Given the description of an element on the screen output the (x, y) to click on. 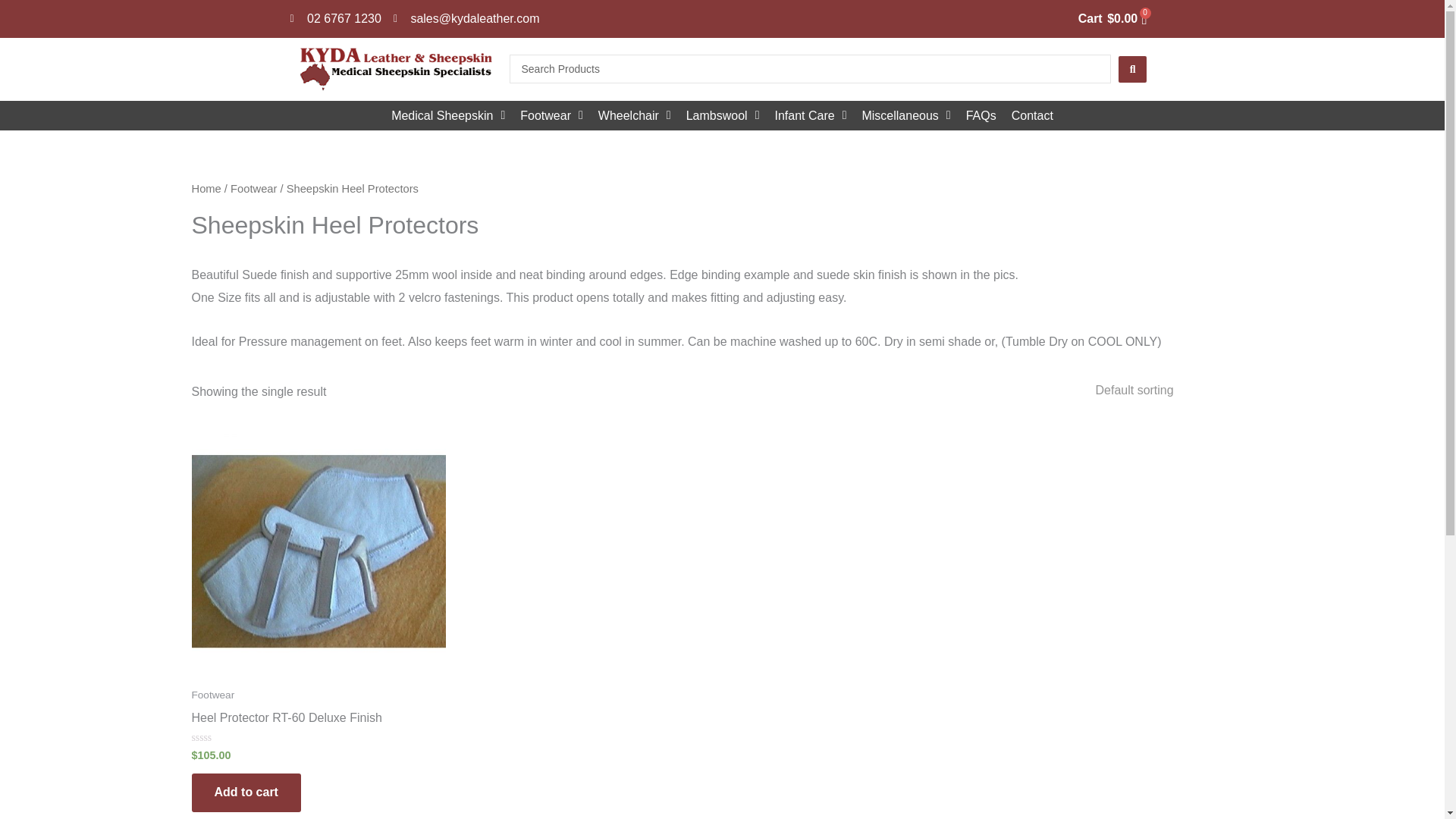
Infant Care (810, 115)
02 6767 1230 (334, 18)
Medical Sheepskin (448, 115)
Footwear (551, 115)
Wheelchair (634, 115)
Lambswool (722, 115)
